Given the description of an element on the screen output the (x, y) to click on. 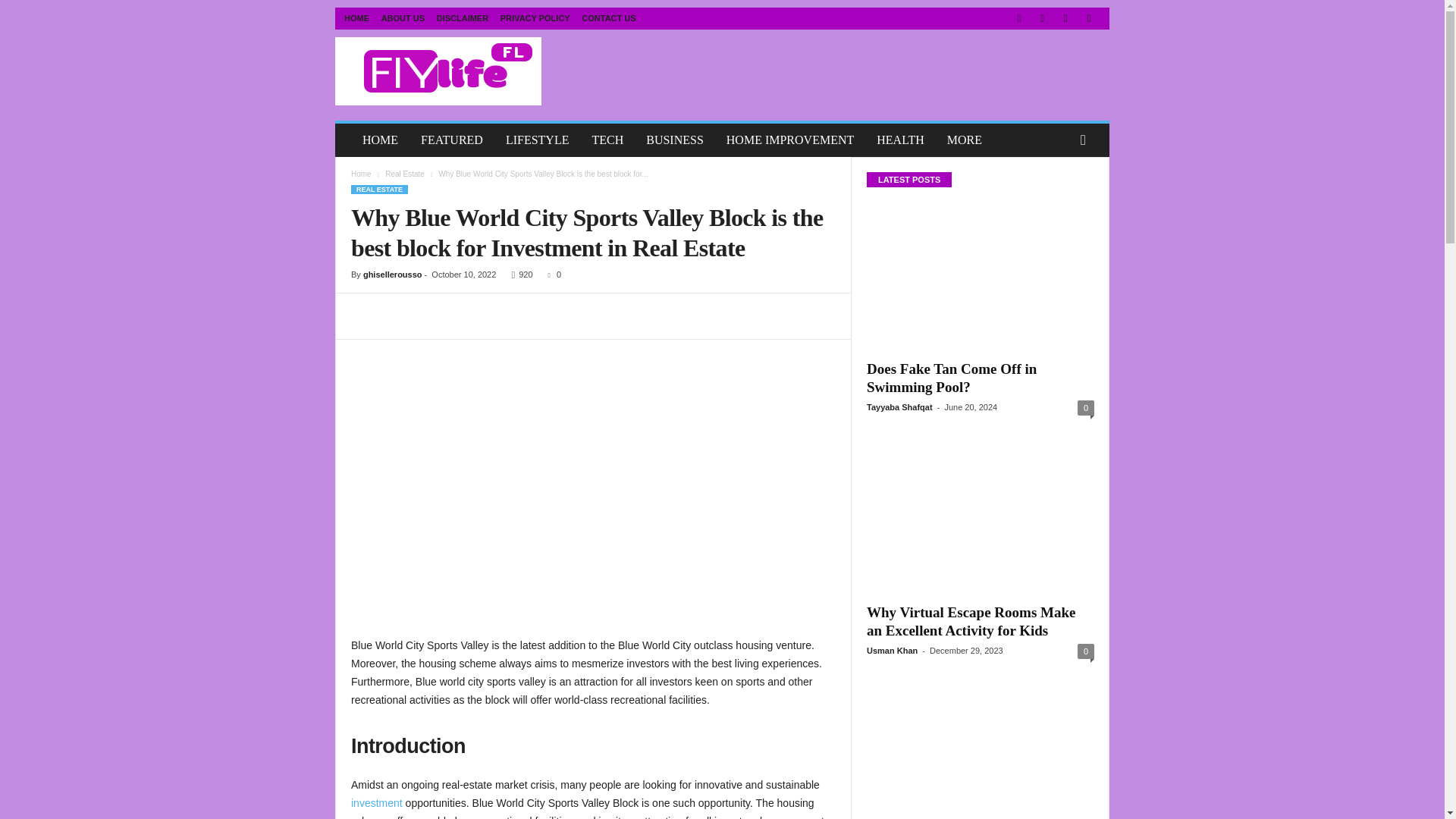
PRIVACY POLICY (535, 17)
HOME (356, 17)
ABOUT US (403, 17)
FIY Life (437, 70)
DISCLAIMER (461, 17)
HOME (379, 140)
View all posts in Real Estate (405, 173)
CONTACT US (607, 17)
